Given the description of an element on the screen output the (x, y) to click on. 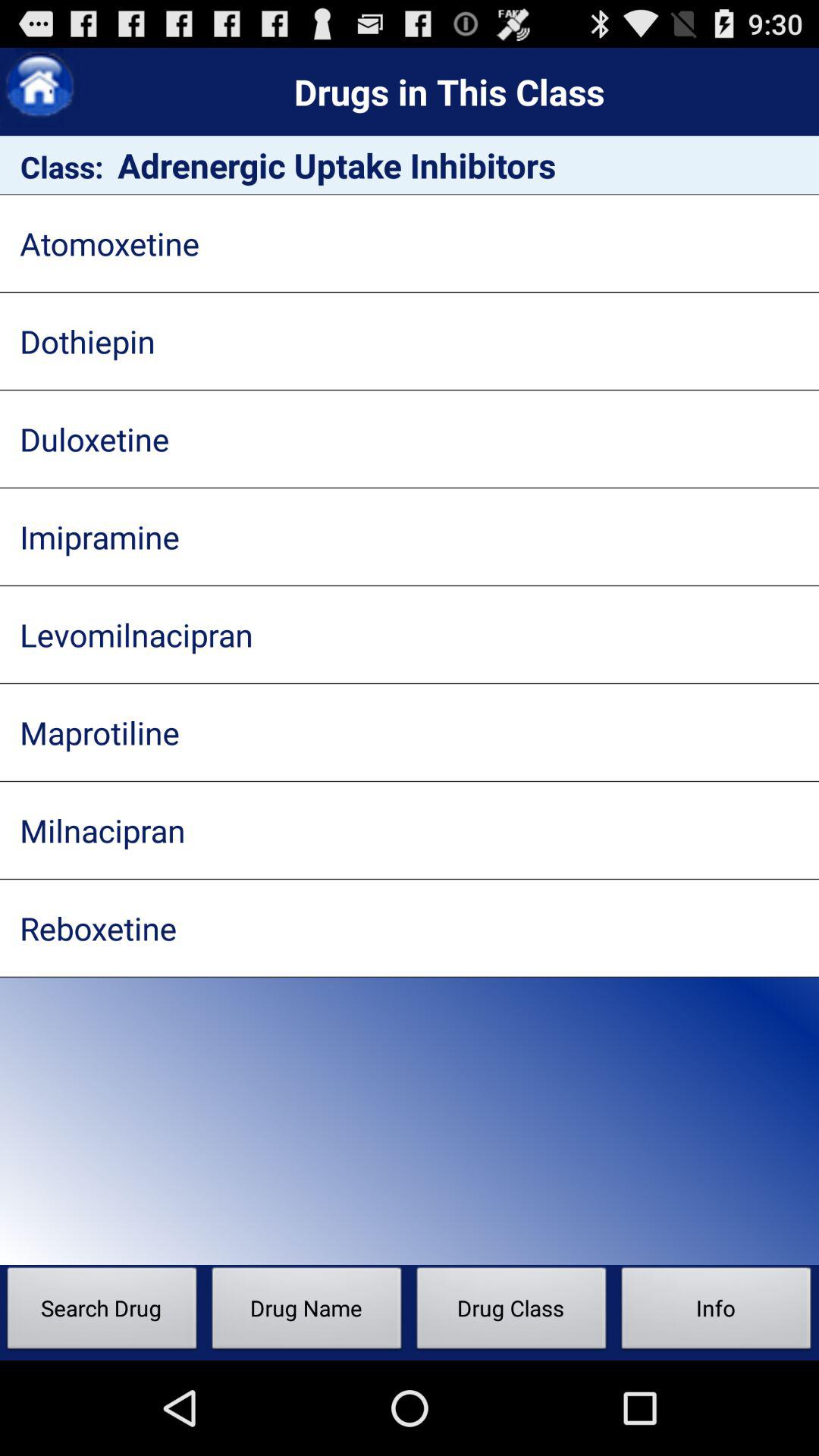
go to home page (39, 87)
